Given the description of an element on the screen output the (x, y) to click on. 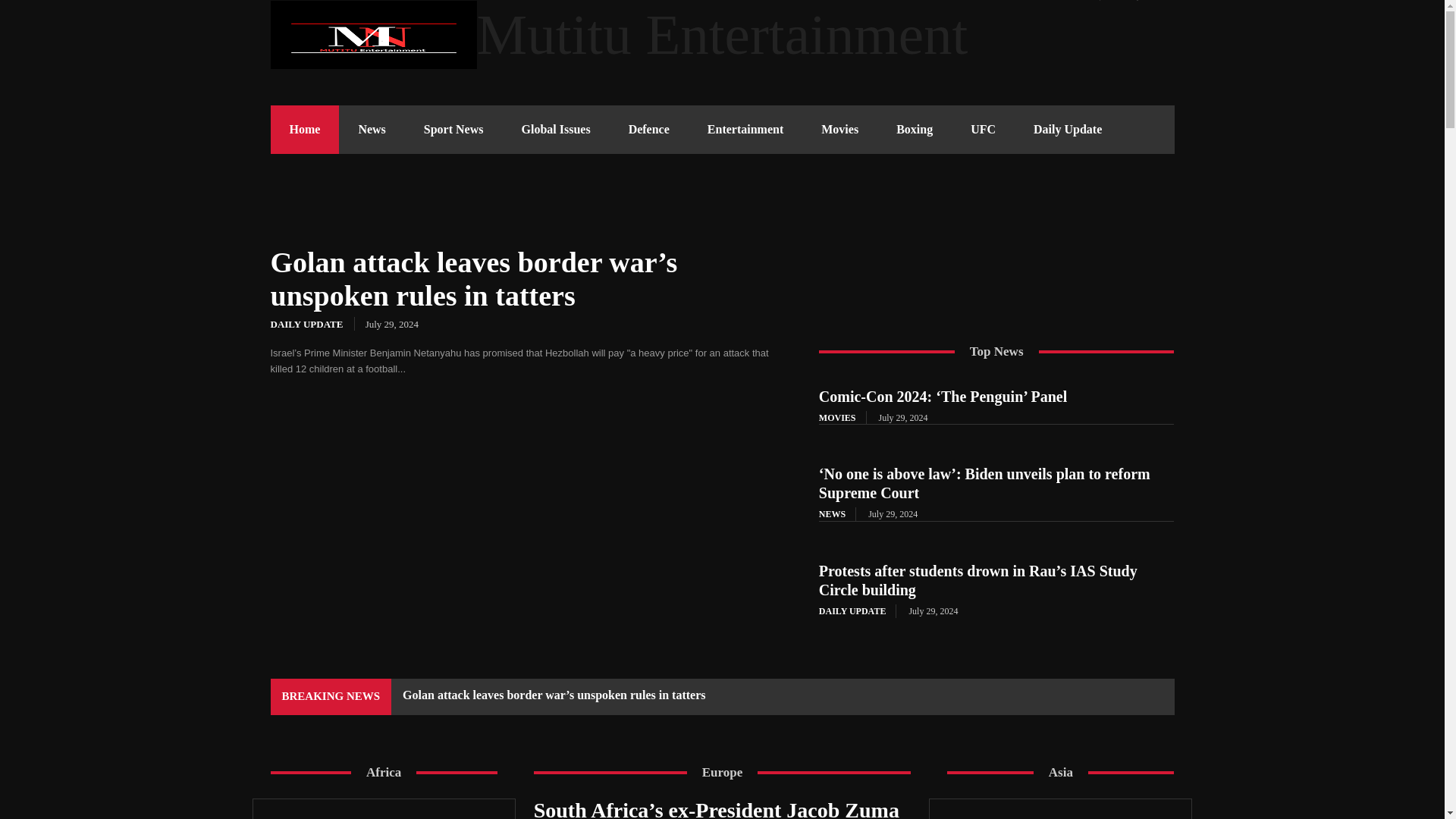
Home (304, 129)
Mutitu Entertainment (721, 34)
Movies (839, 129)
Boxing (914, 129)
Defence (649, 129)
Global Issues (555, 129)
Entertainment (745, 129)
UFC (983, 129)
News (371, 129)
Sport News (453, 129)
